Given the description of an element on the screen output the (x, y) to click on. 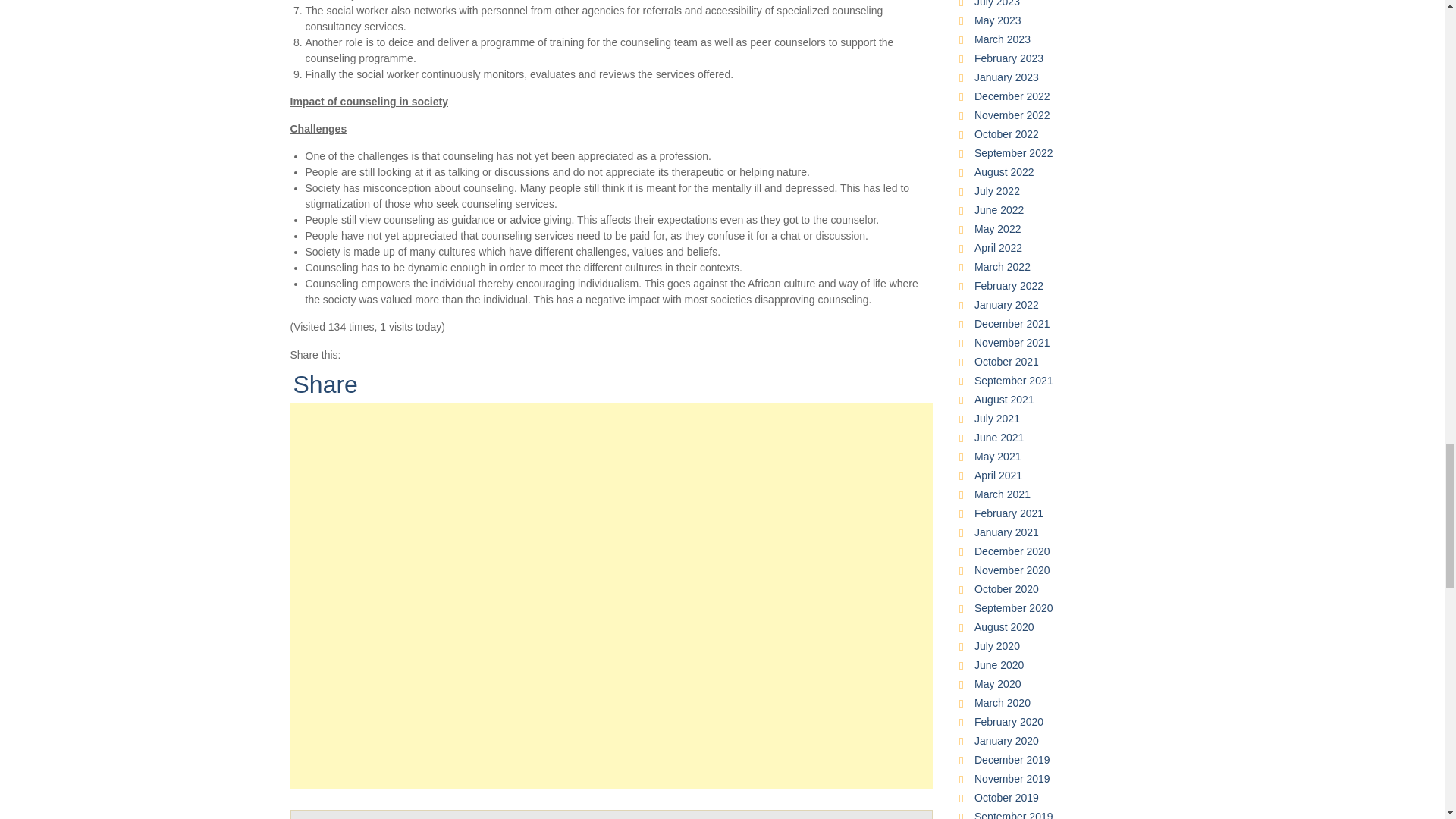
Share (324, 383)
